Given the description of an element on the screen output the (x, y) to click on. 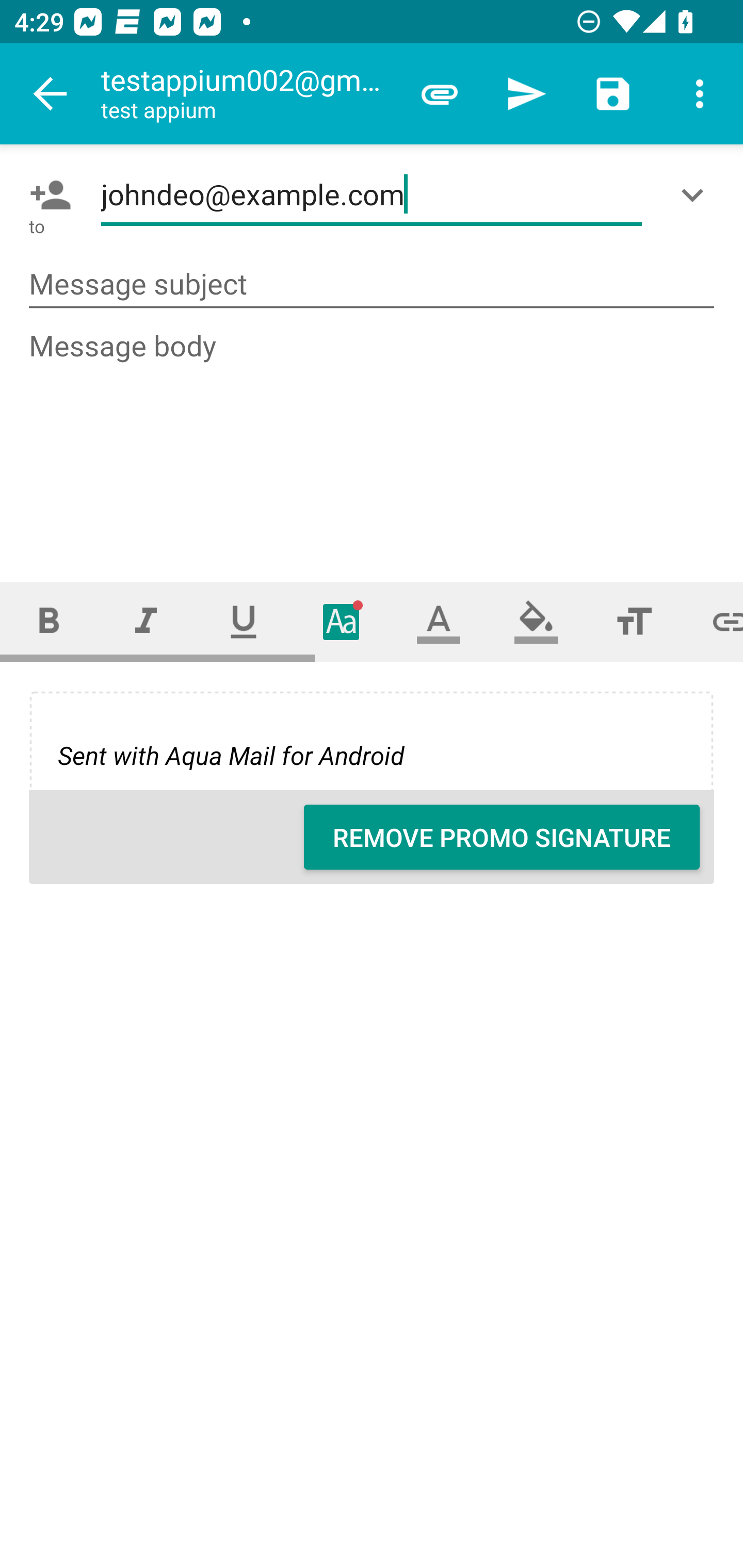
Navigate up (50, 93)
testappium002@gmail.com test appium (248, 93)
Attach (439, 93)
Send (525, 93)
Save (612, 93)
More options (699, 93)
Pick contact: To (46, 195)
Show/Add CC/BCC (696, 195)
johndeo@example.com (371, 195)
Message subject (371, 284)
Message body (372, 438)
Bold (48, 621)
Italic (145, 621)
Underline (243, 621)
Typeface (font) (341, 621)
Text color (438, 621)
Fill color (536, 621)
Font size (633, 621)
Set link (712, 621)
REMOVE PROMO SIGNATURE (501, 837)
